Given the description of an element on the screen output the (x, y) to click on. 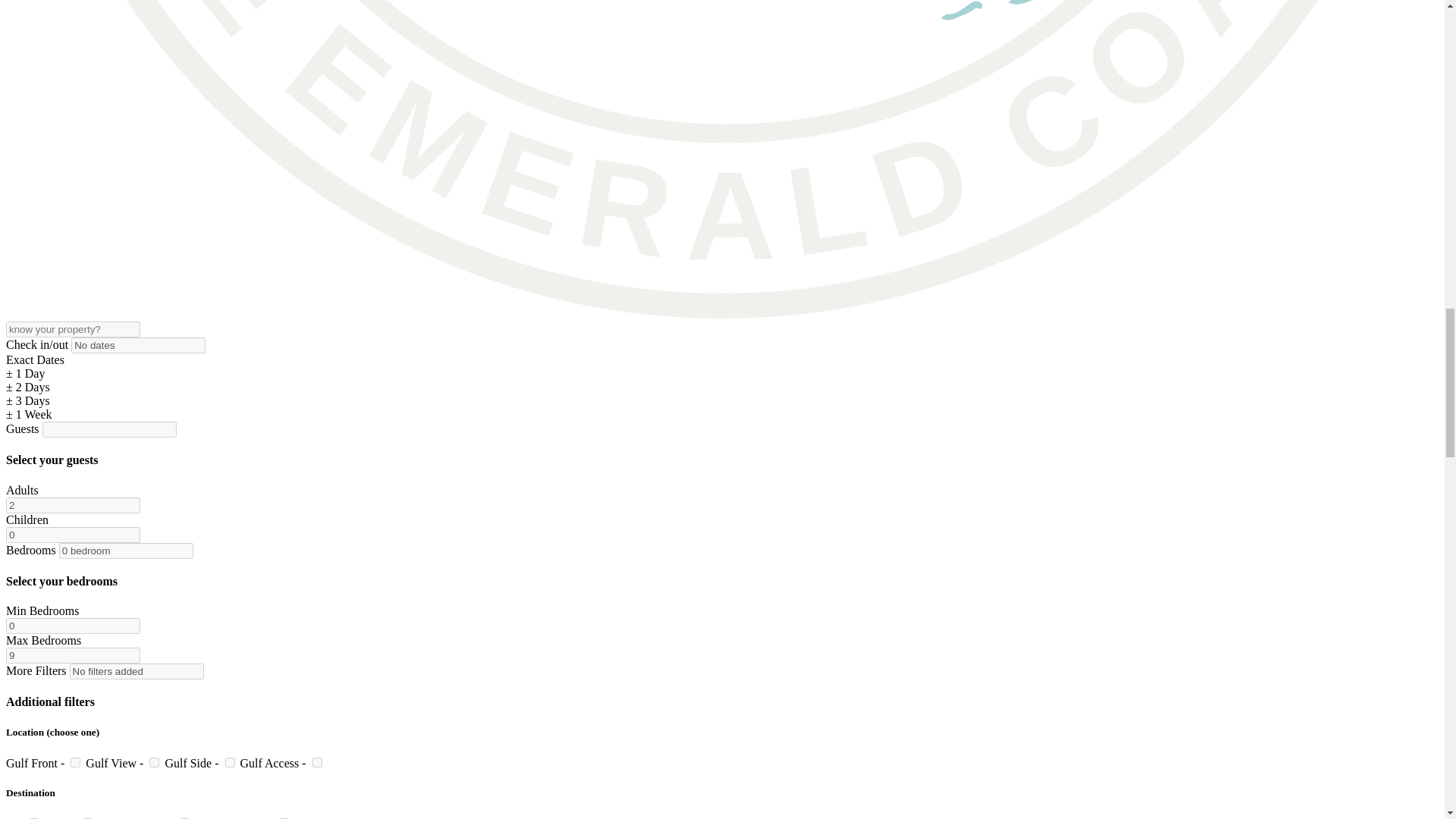
0 (72, 625)
2 (72, 505)
0 bedroom (126, 550)
No dates (138, 344)
0 (72, 534)
9 (72, 655)
No filters added (136, 671)
